Given the description of an element on the screen output the (x, y) to click on. 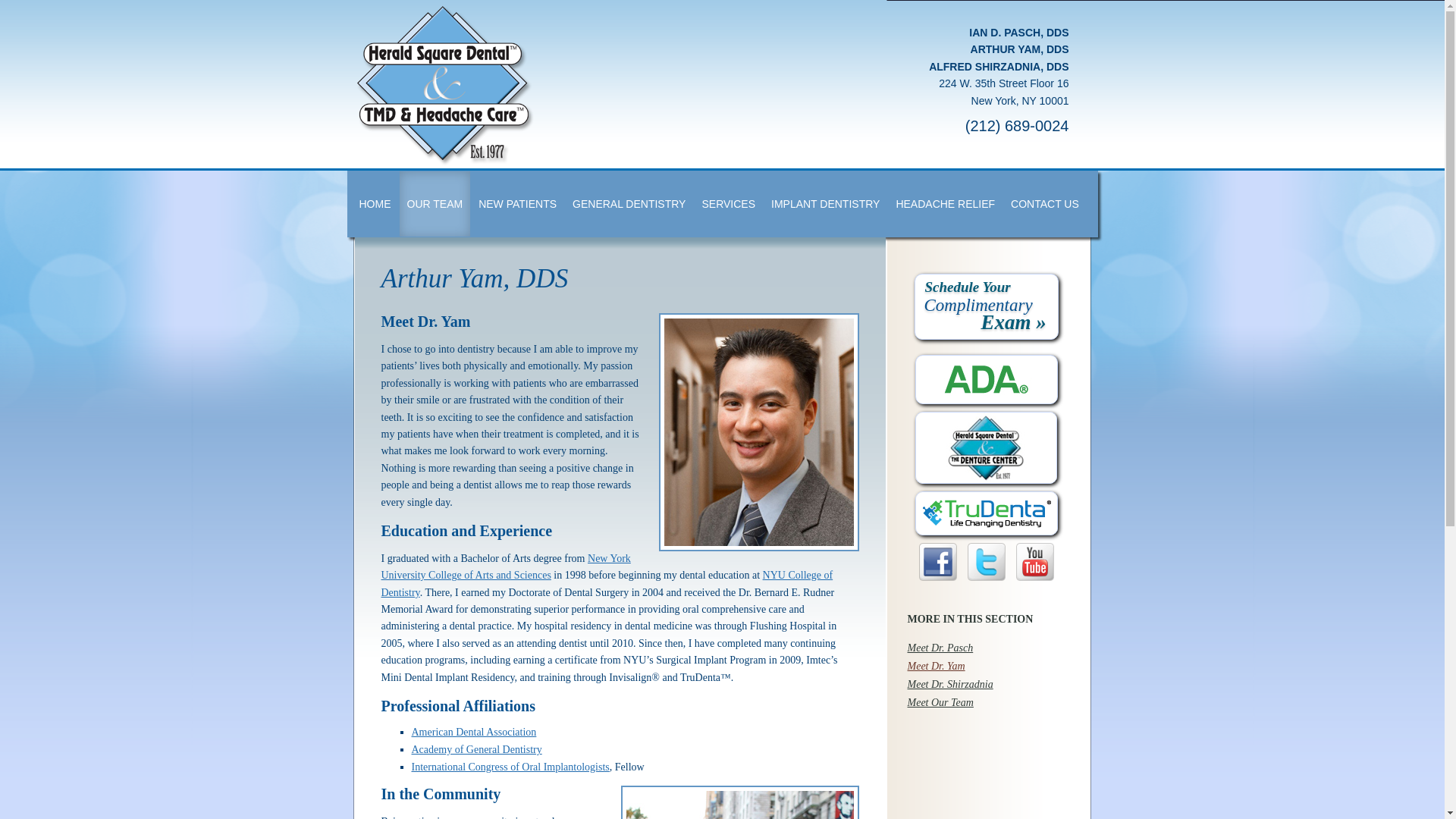
OUR TEAM (434, 203)
NEW PATIENTS (517, 203)
IMPLANT DENTISTRY (824, 203)
GENERAL DENTISTRY (628, 203)
SERVICES (728, 203)
Herald Square Dental (578, 85)
